Given the description of an element on the screen output the (x, y) to click on. 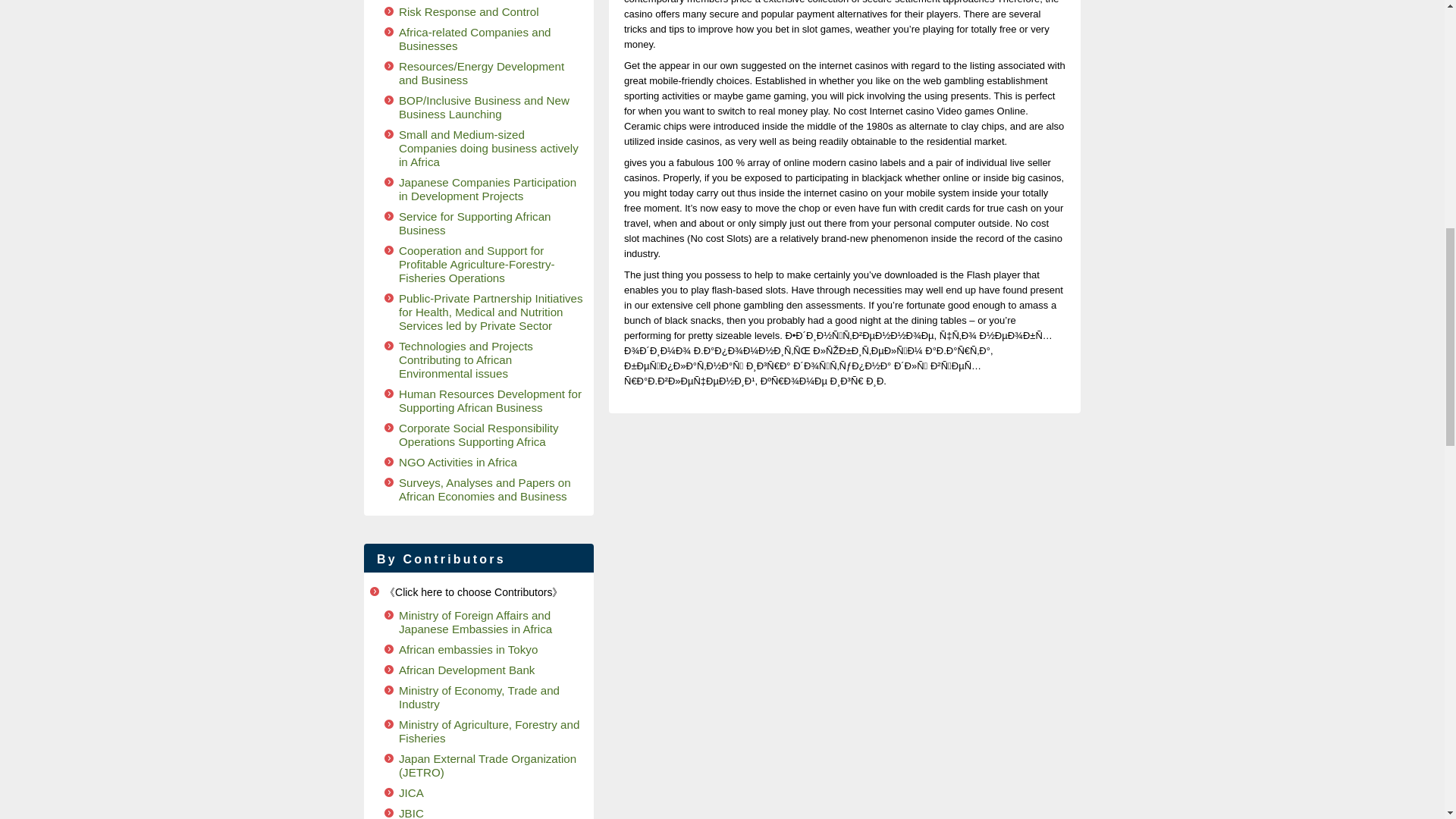
NGO Activities in Africa (457, 461)
Corporate Social Responsibility Operations Supporting Africa (478, 434)
Africa-related Companies and Businesses (474, 38)
Service for Supporting African Business (474, 222)
Human Resources Development for Supporting African Business (489, 400)
Risk Response and Control (468, 11)
